Given the description of an element on the screen output the (x, y) to click on. 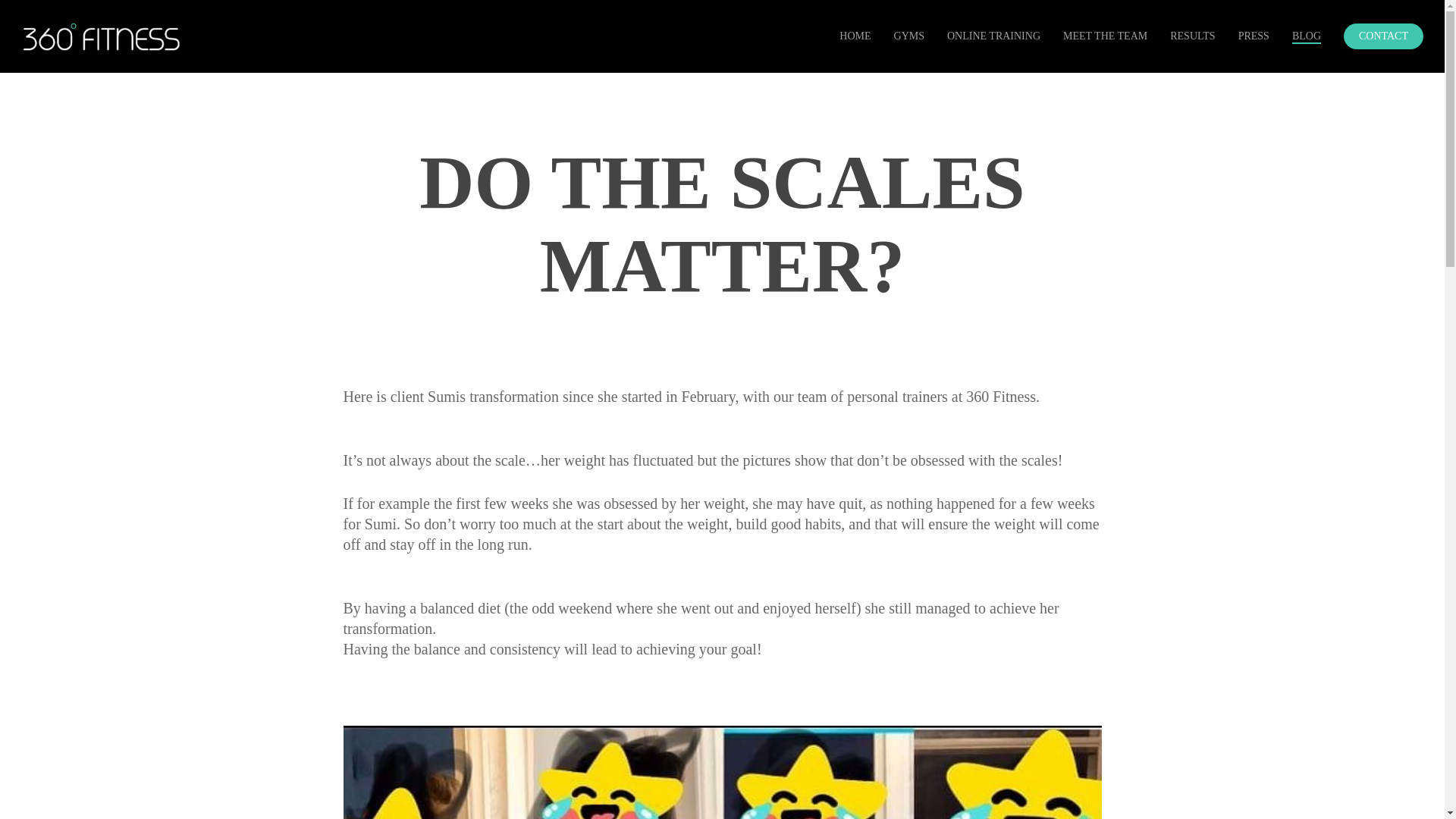
MEET THE TEAM (1104, 36)
HOME (855, 36)
PRESS (1254, 36)
BLOG (1306, 36)
ONLINE TRAINING (994, 36)
GYMS (908, 36)
CONTACT (1383, 36)
RESULTS (1192, 36)
